Given the description of an element on the screen output the (x, y) to click on. 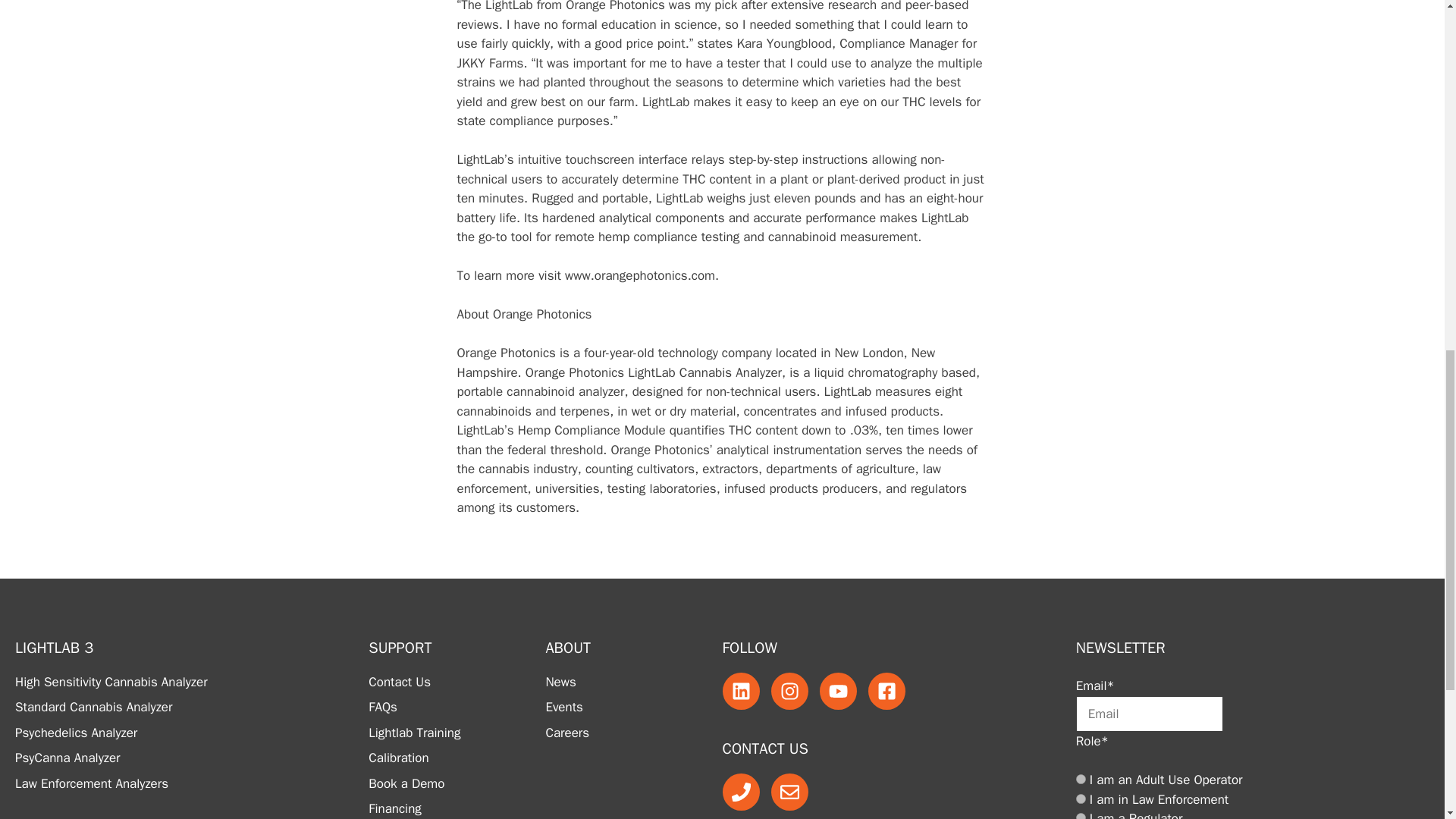
Adult Use (1080, 778)
Law Enforcement (1080, 798)
Regulator (1080, 816)
